Given the description of an element on the screen output the (x, y) to click on. 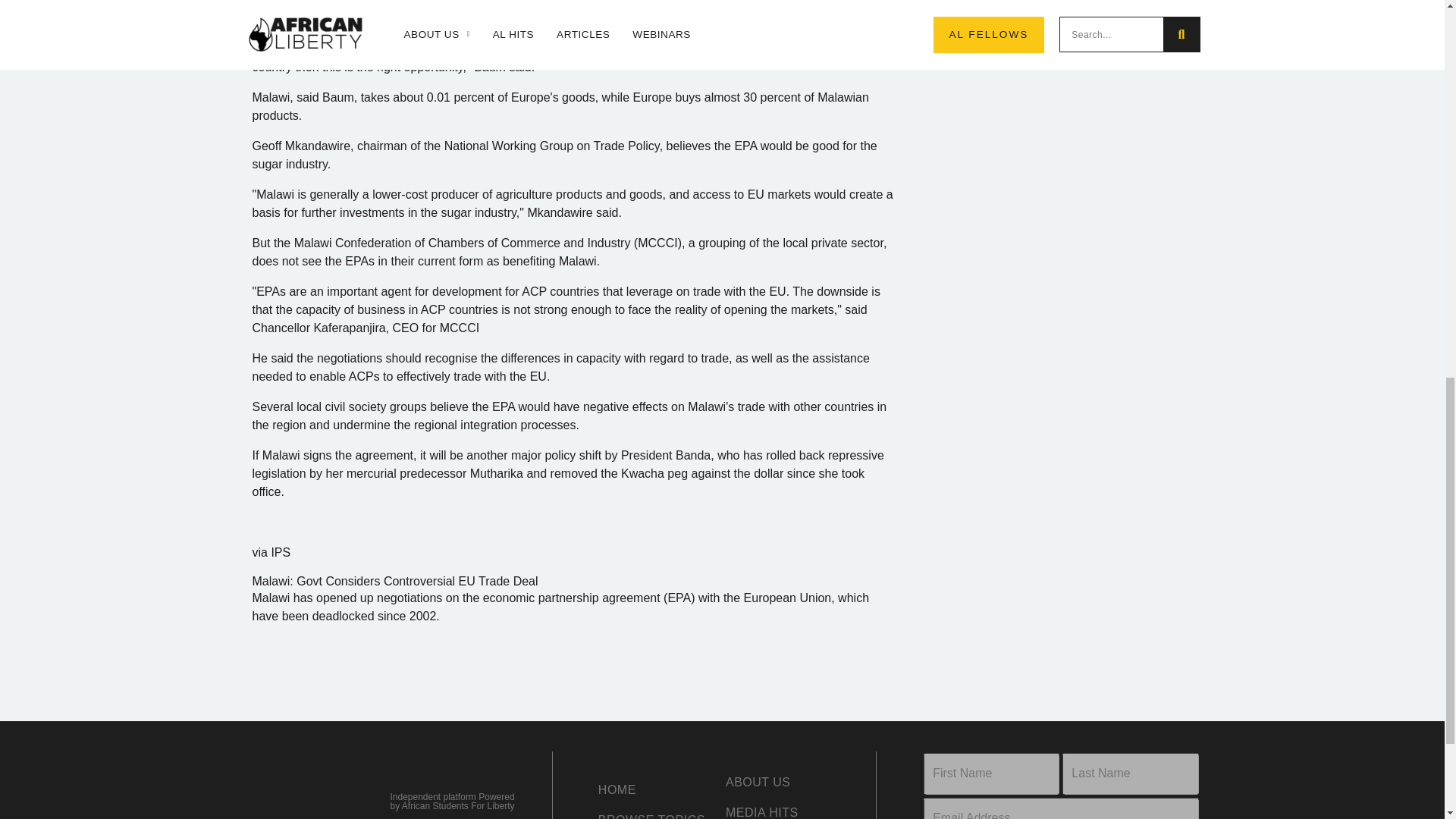
Email (1060, 808)
First Name (991, 773)
Last Name (1130, 773)
